Given the description of an element on the screen output the (x, y) to click on. 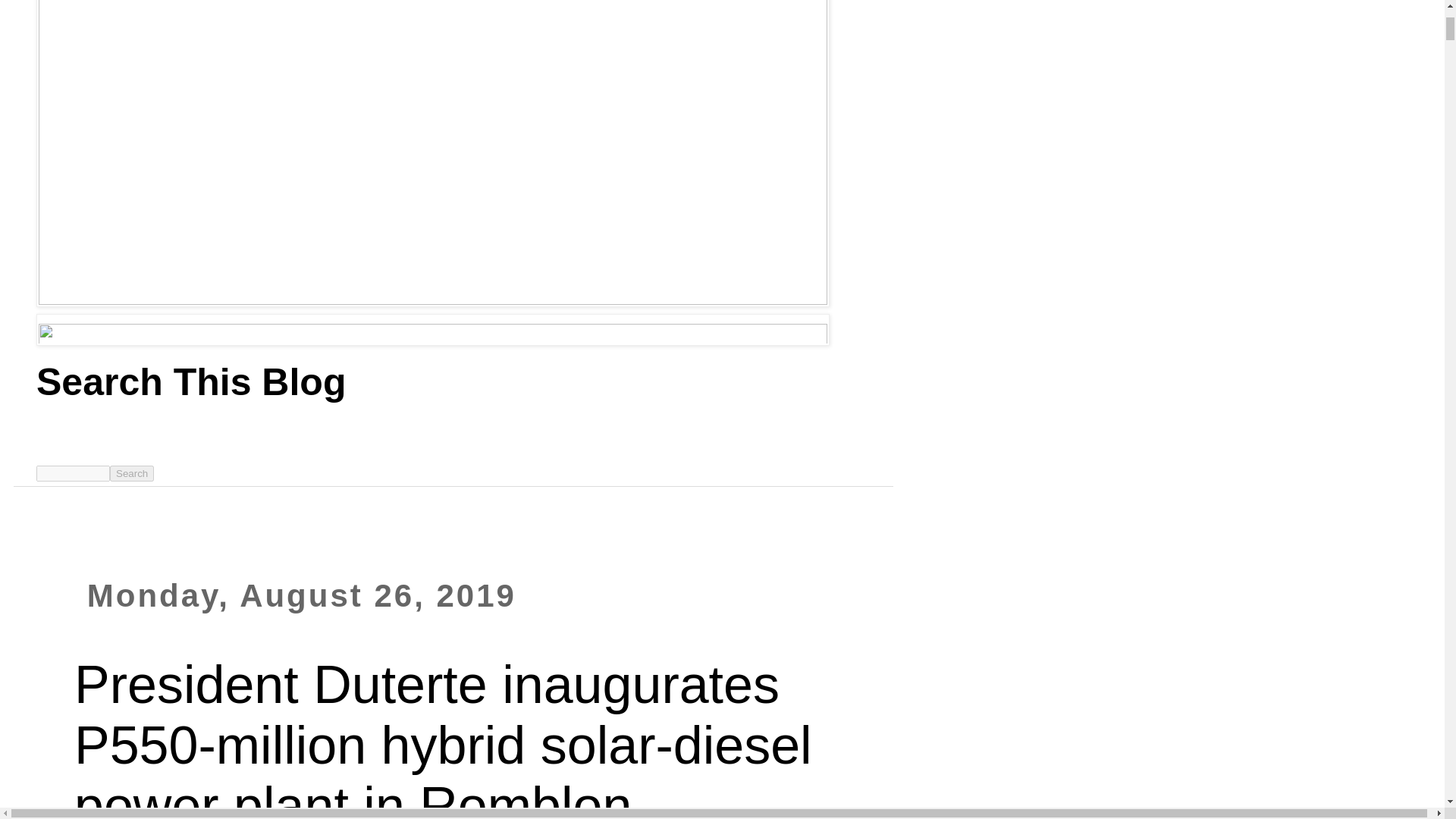
search (132, 473)
Search (132, 473)
Search (132, 473)
Search (132, 473)
search (73, 473)
